Given the description of an element on the screen output the (x, y) to click on. 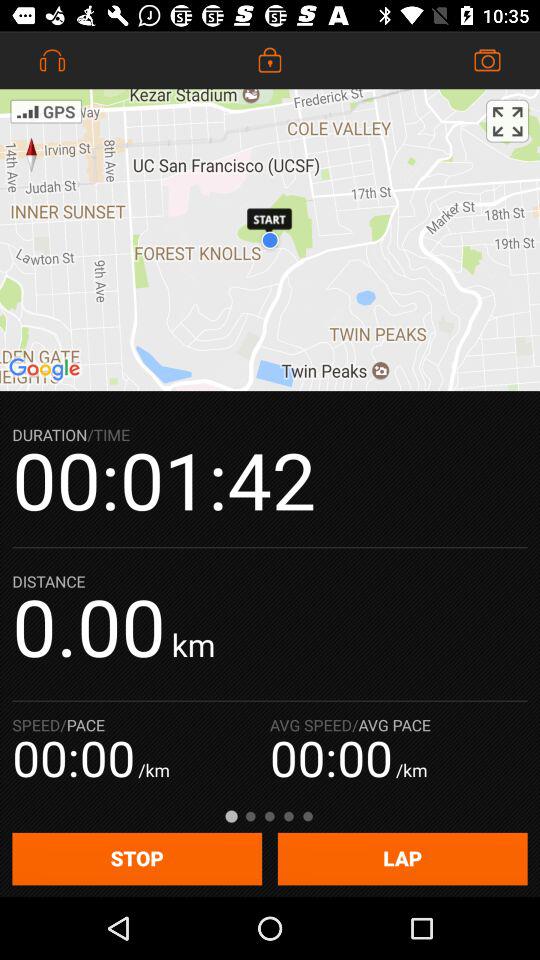
turn off the item above the duration/time icon (270, 240)
